Given the description of an element on the screen output the (x, y) to click on. 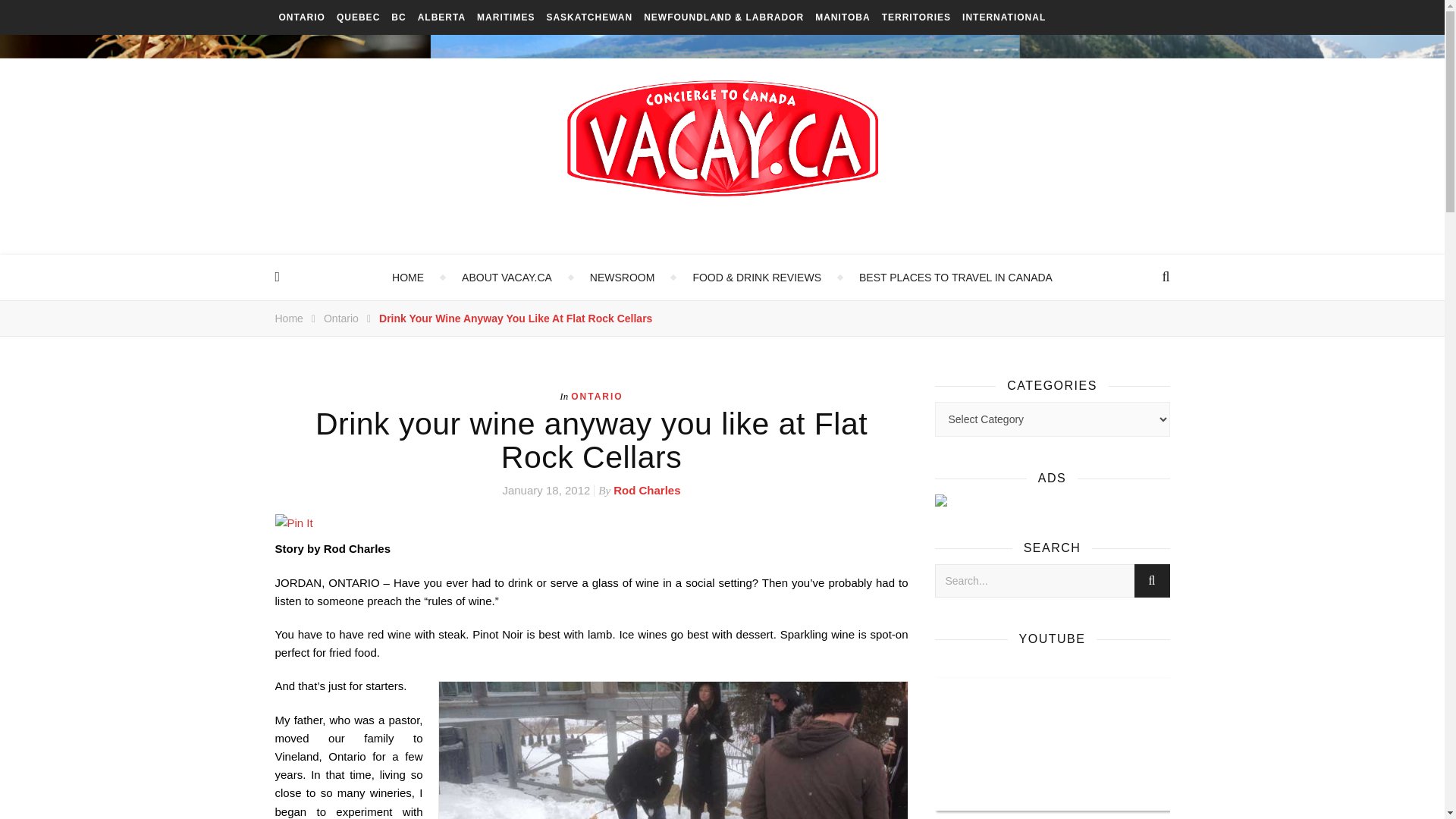
Travel Experts (622, 277)
Home (288, 318)
FlatRock (672, 750)
Pin It (591, 523)
ONTARIO (302, 17)
QUEBEC (358, 17)
Vacay.ca (722, 138)
Manitoba (841, 17)
Ontario (340, 318)
Drink your wine anyway you like at Flat Rock Cellars (515, 318)
